Given the description of an element on the screen output the (x, y) to click on. 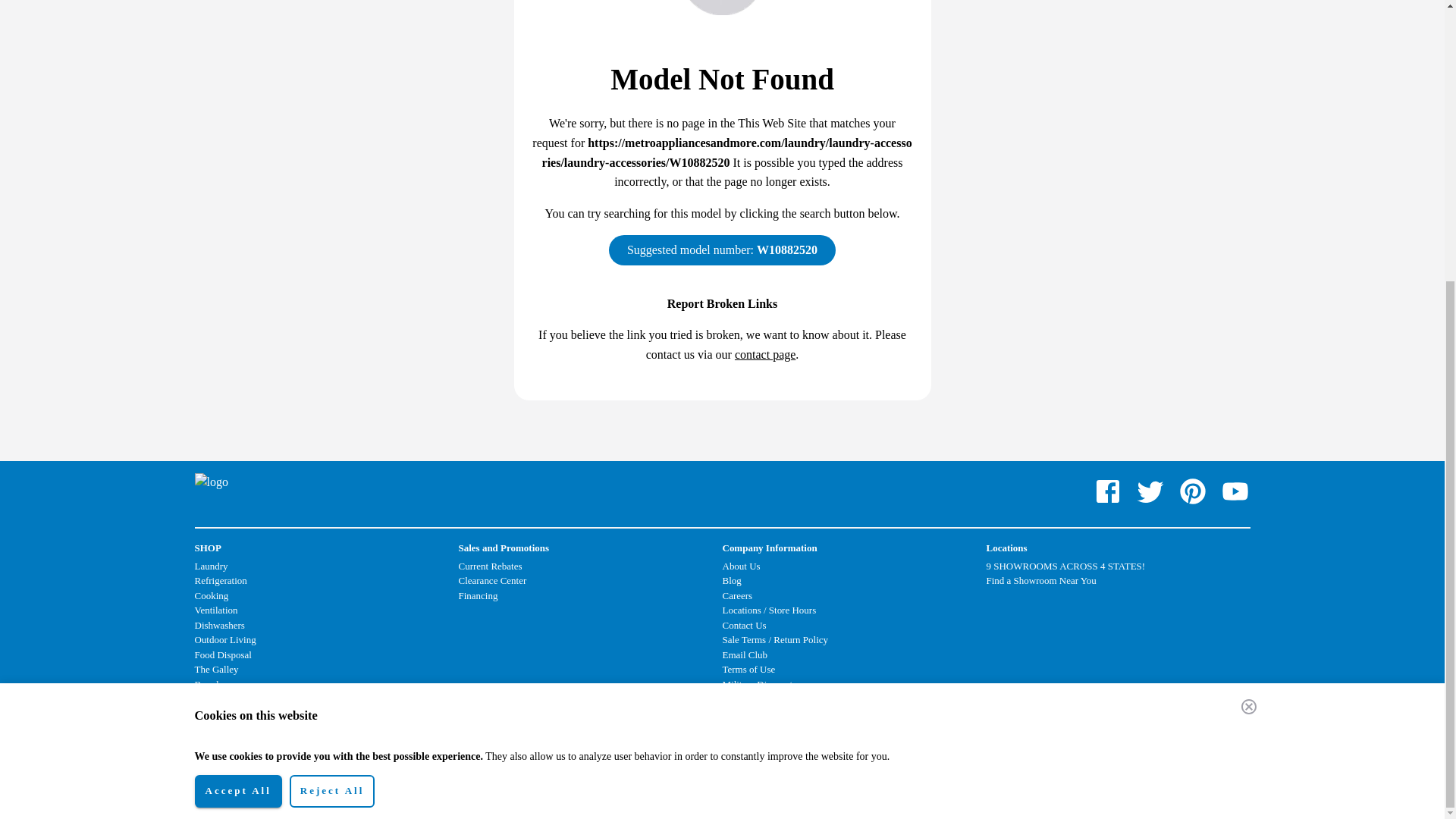
Reject All (331, 370)
Refrigeration (219, 580)
Cooking (210, 595)
Suggested model number: W10882520 (721, 250)
Laundry (210, 565)
Dishwashers (218, 625)
contact page (764, 354)
Ventilation (215, 609)
Outdoor Living (224, 639)
Accept All (237, 370)
